Given the description of an element on the screen output the (x, y) to click on. 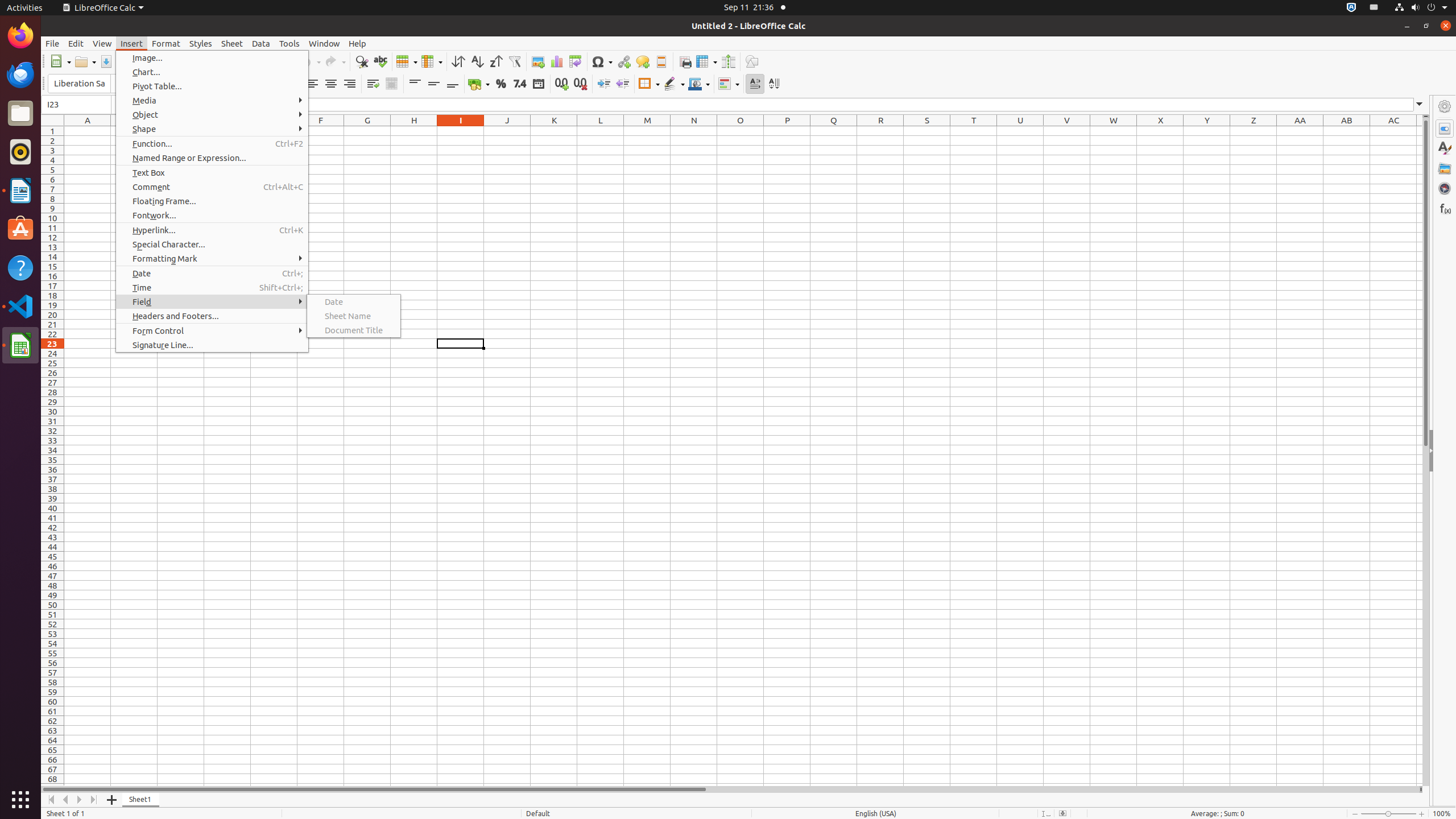
Delete Decimal Place Element type: push-button (580, 83)
AD1 Element type: table-cell (1419, 130)
Decrease Element type: push-button (622, 83)
L1 Element type: table-cell (600, 130)
